Given the description of an element on the screen output the (x, y) to click on. 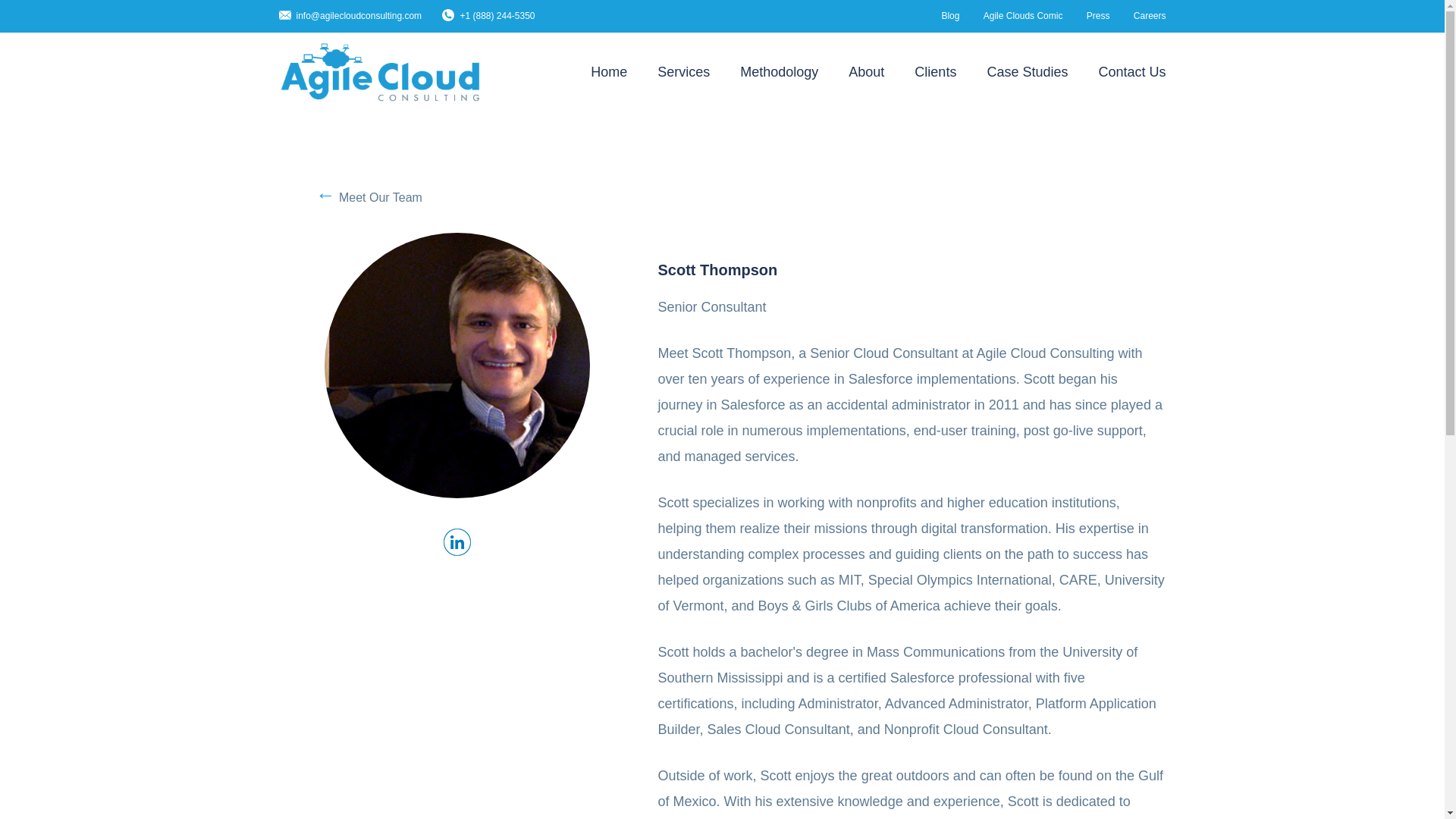
Services (684, 72)
Clients (935, 72)
Methodology (778, 72)
Home (609, 72)
Agile Clouds Comic (1023, 16)
Careers (1150, 16)
Contact Us (1131, 72)
Case Studies (1027, 72)
About (865, 72)
